Given the description of an element on the screen output the (x, y) to click on. 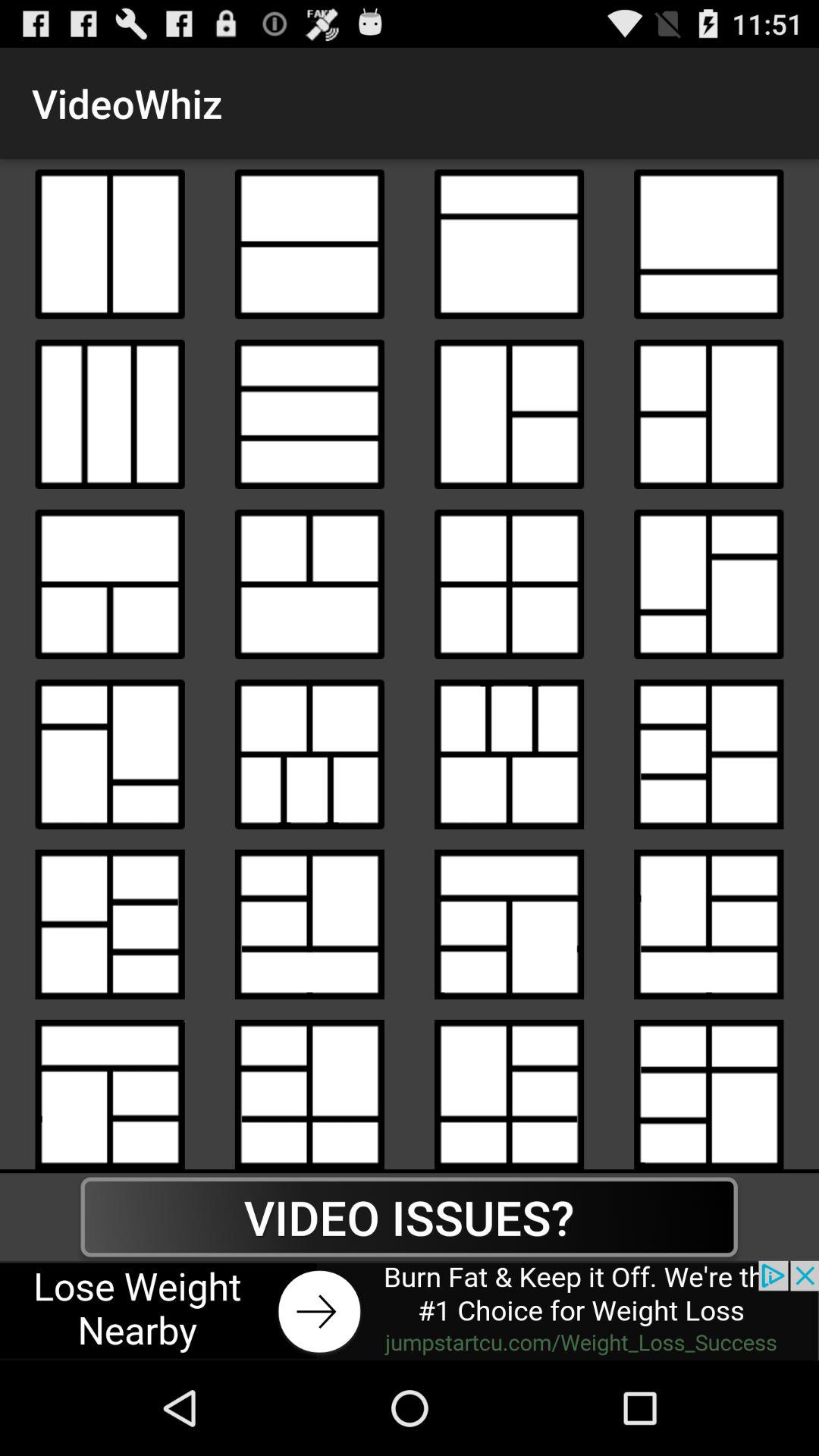
puzzle box (509, 754)
